Given the description of an element on the screen output the (x, y) to click on. 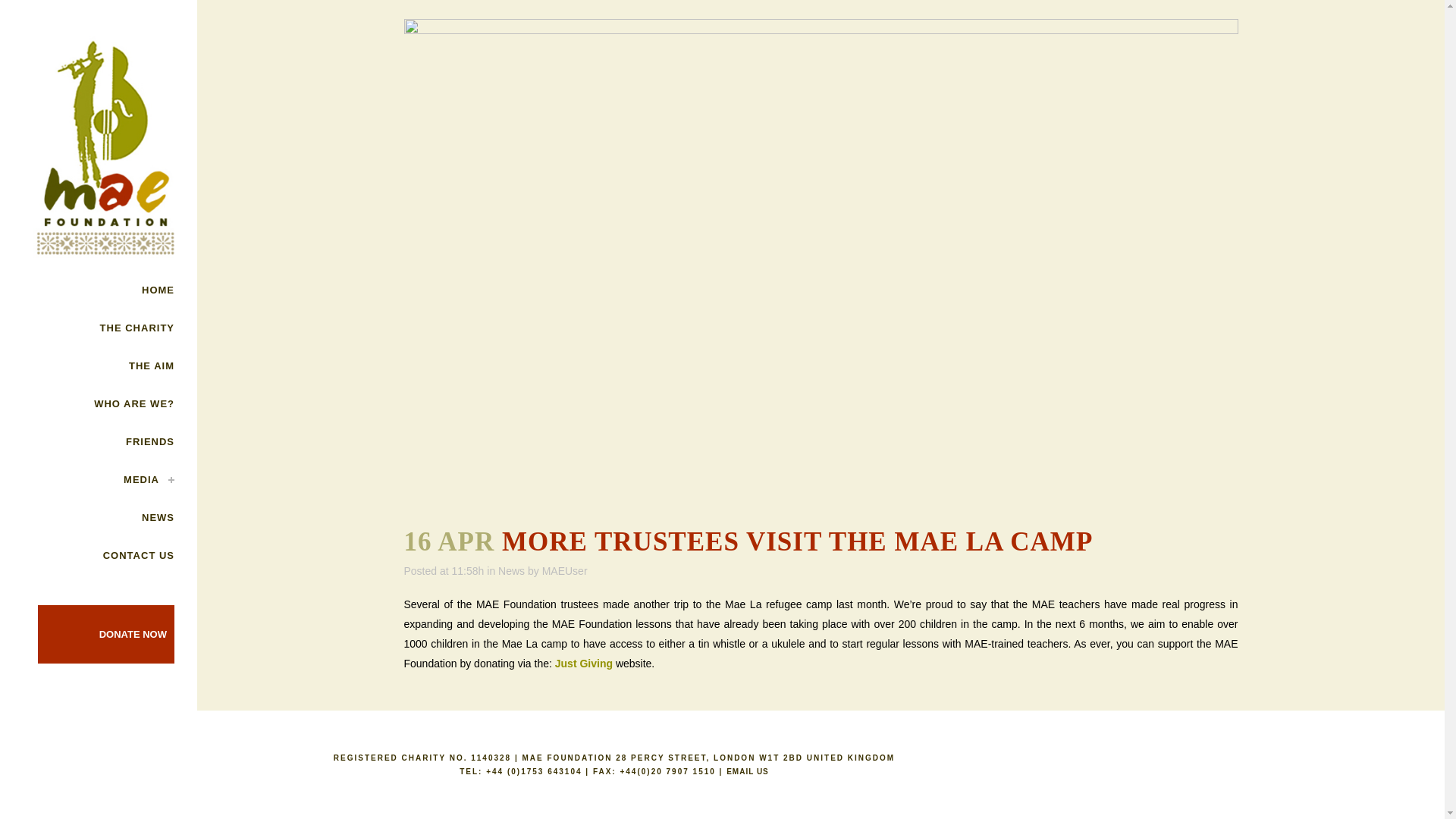
WHO ARE WE? (98, 403)
CONTACT US (98, 555)
THE CHARITY (98, 328)
MEDIA (98, 479)
FRIENDS (98, 442)
NEWS (98, 517)
DONATE NOW (133, 633)
HOME (98, 290)
THE AIM (98, 365)
